Given the description of an element on the screen output the (x, y) to click on. 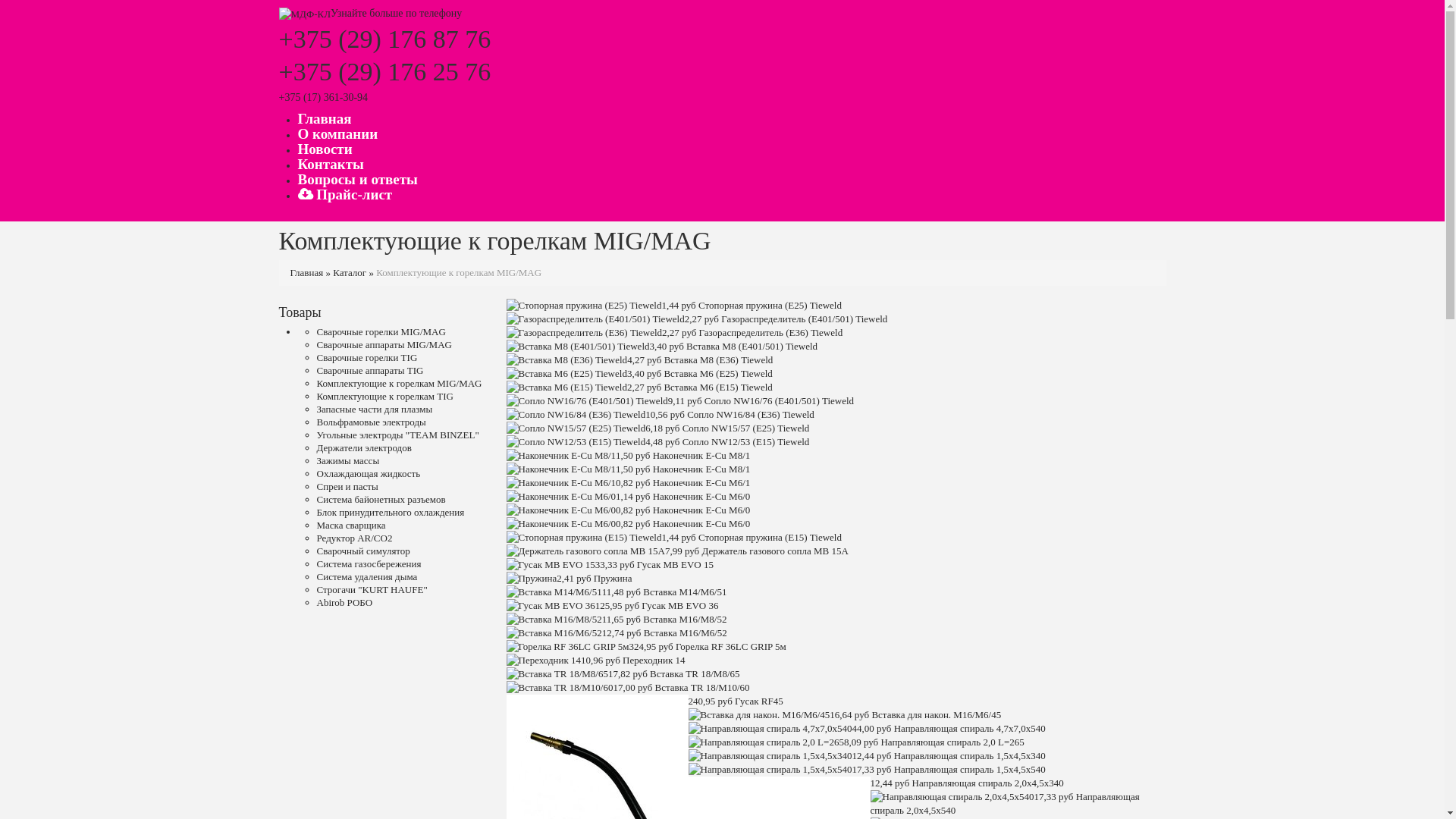
ABICOR BINZEL Element type: hover (305, 12)
